Given the description of an element on the screen output the (x, y) to click on. 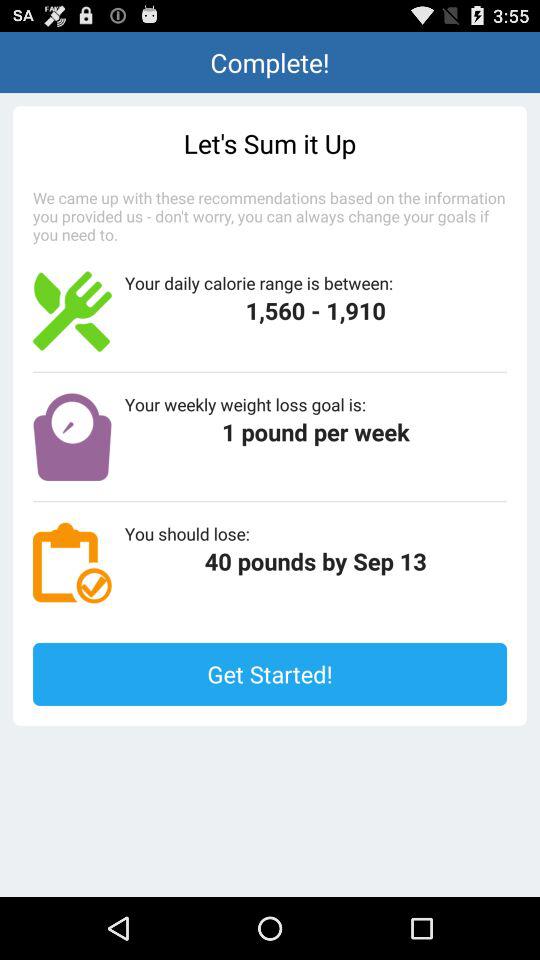
open item at the bottom (270, 673)
